Given the description of an element on the screen output the (x, y) to click on. 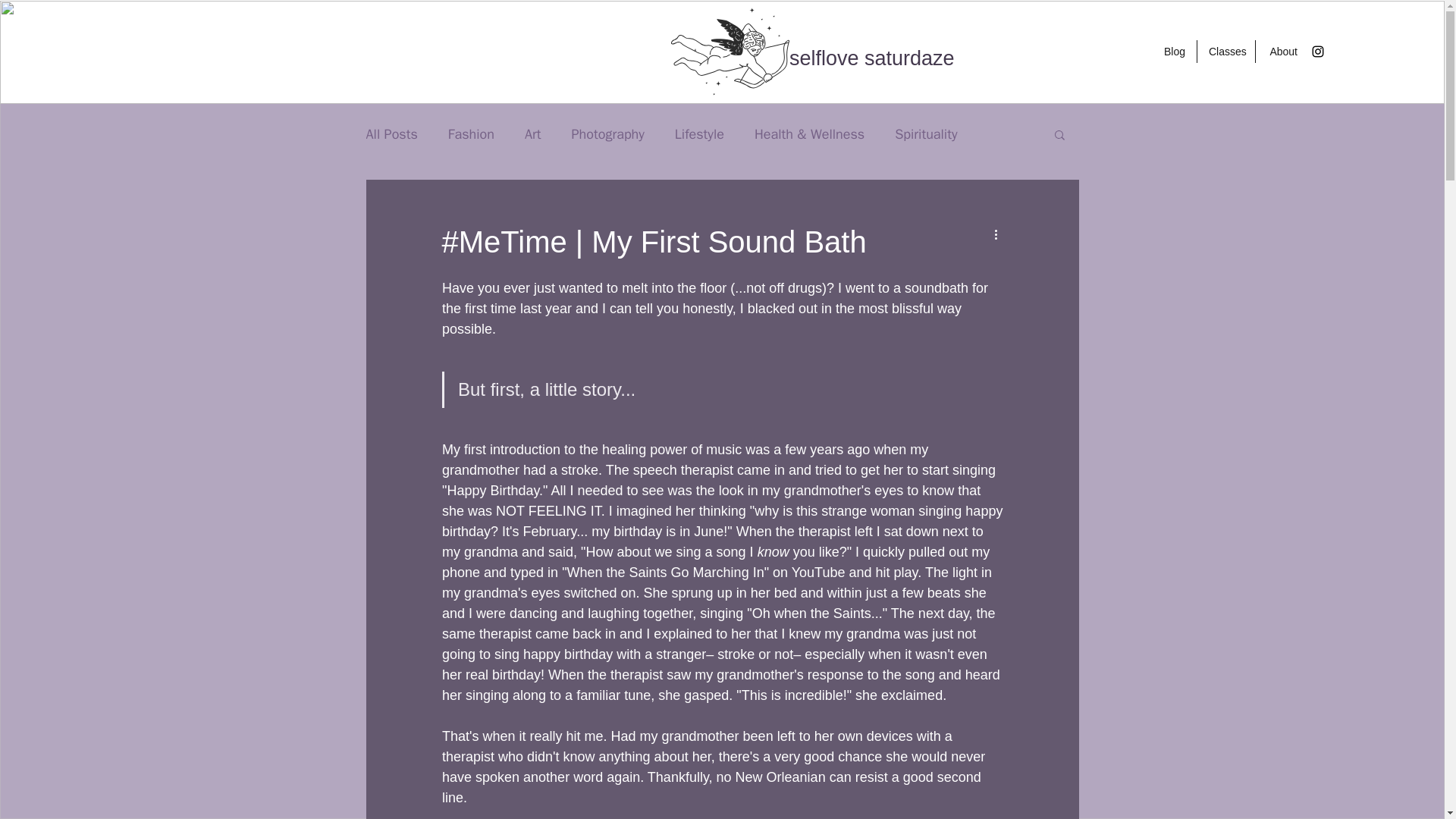
Art (532, 134)
Classes (1225, 51)
Blog (1173, 51)
Photography (608, 134)
selflove saturdaze (872, 57)
Fashion (471, 134)
About (1281, 51)
Lifestyle (699, 134)
Spirituality (925, 134)
All Posts (390, 134)
